Given the description of an element on the screen output the (x, y) to click on. 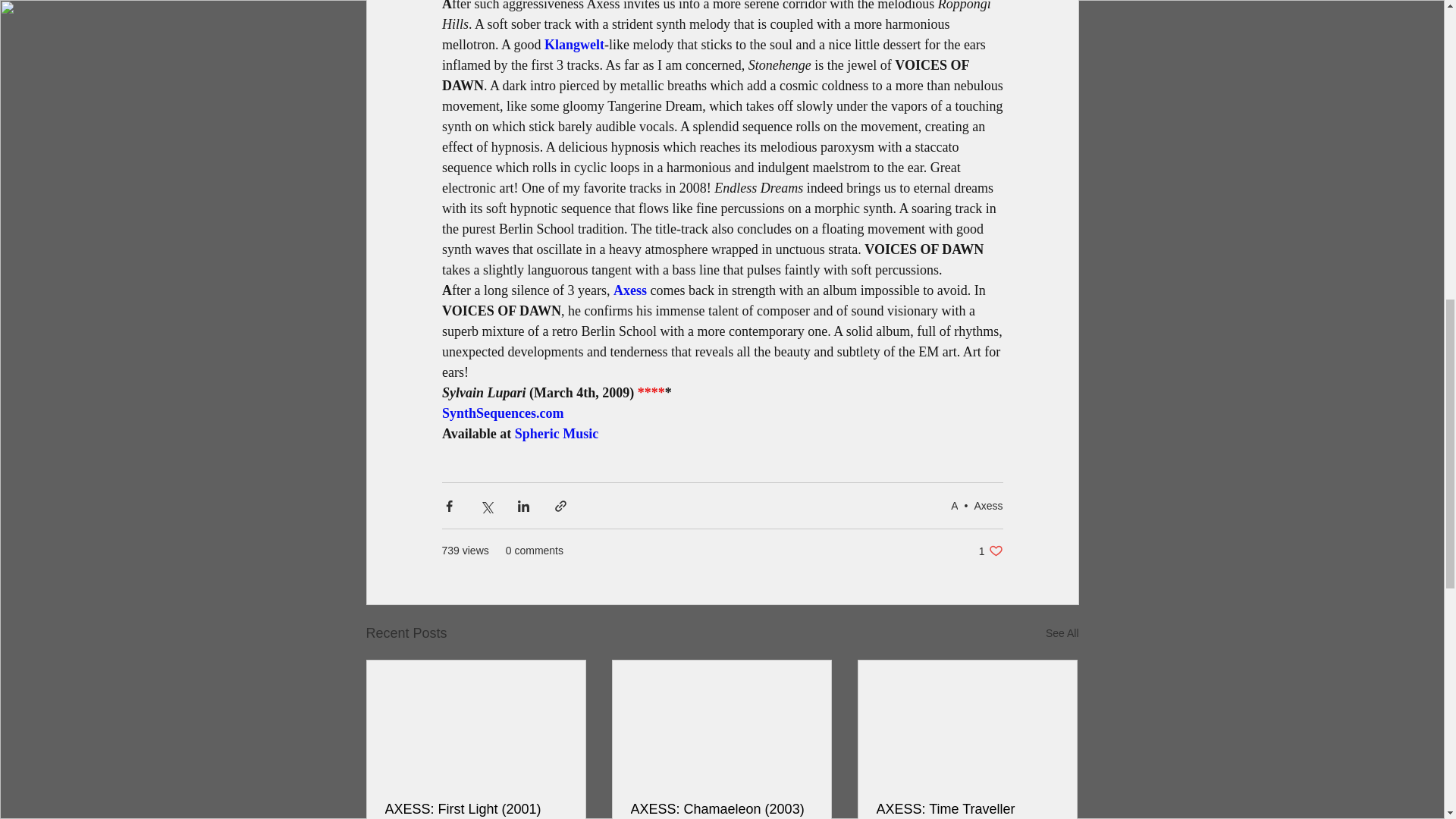
SynthSequences.com (502, 412)
Klangwelt (574, 44)
Axess (988, 504)
See All (990, 550)
Spheric Music (1061, 633)
Axess (555, 433)
